Given the description of an element on the screen output the (x, y) to click on. 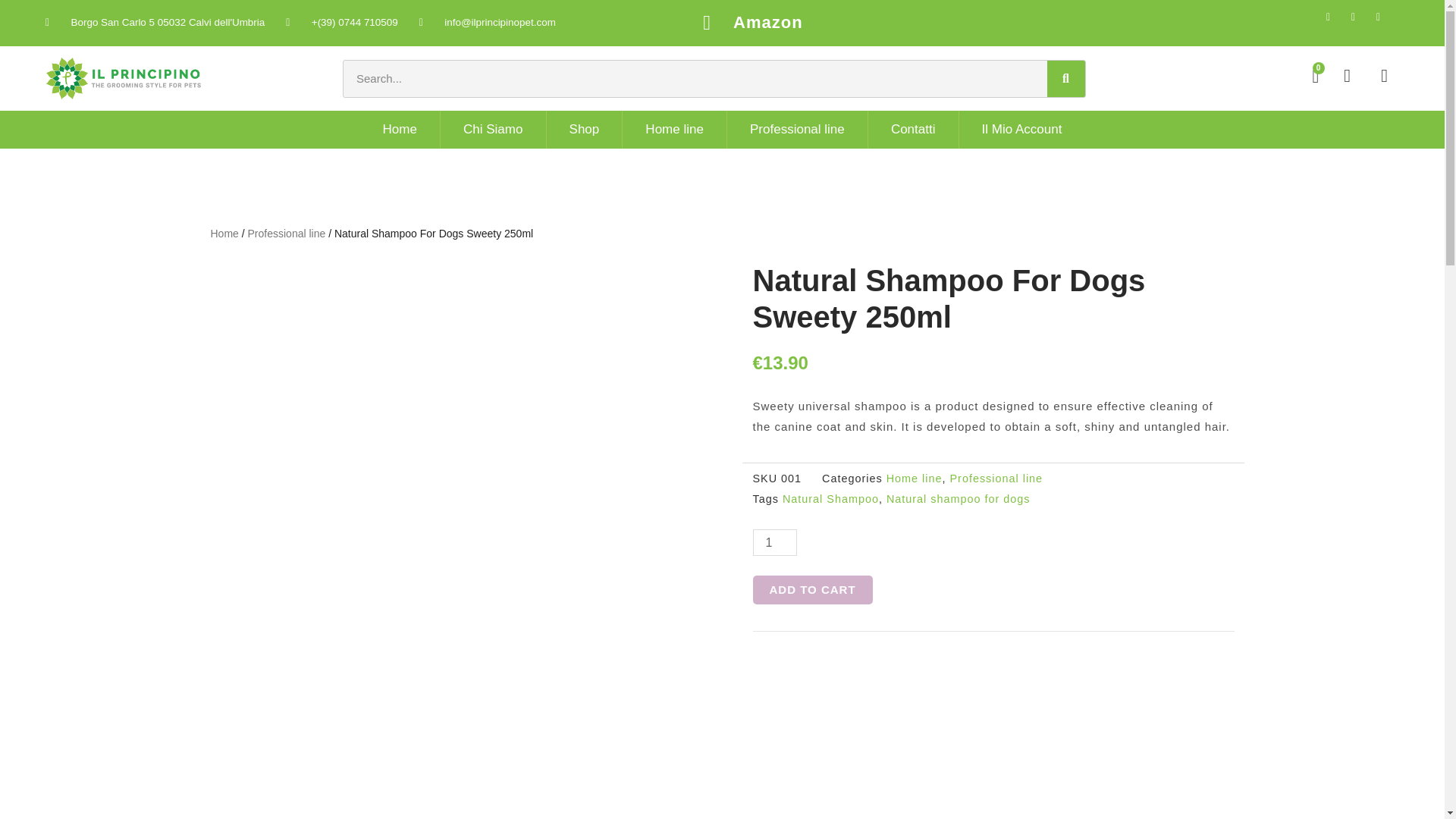
Search (694, 78)
Home line (673, 129)
Il Mio Account (1021, 129)
Chi Siamo (492, 129)
Home (400, 129)
Contatti (913, 129)
Professional line (796, 129)
1 (774, 542)
Search (1065, 78)
Shop (584, 129)
